Given the description of an element on the screen output the (x, y) to click on. 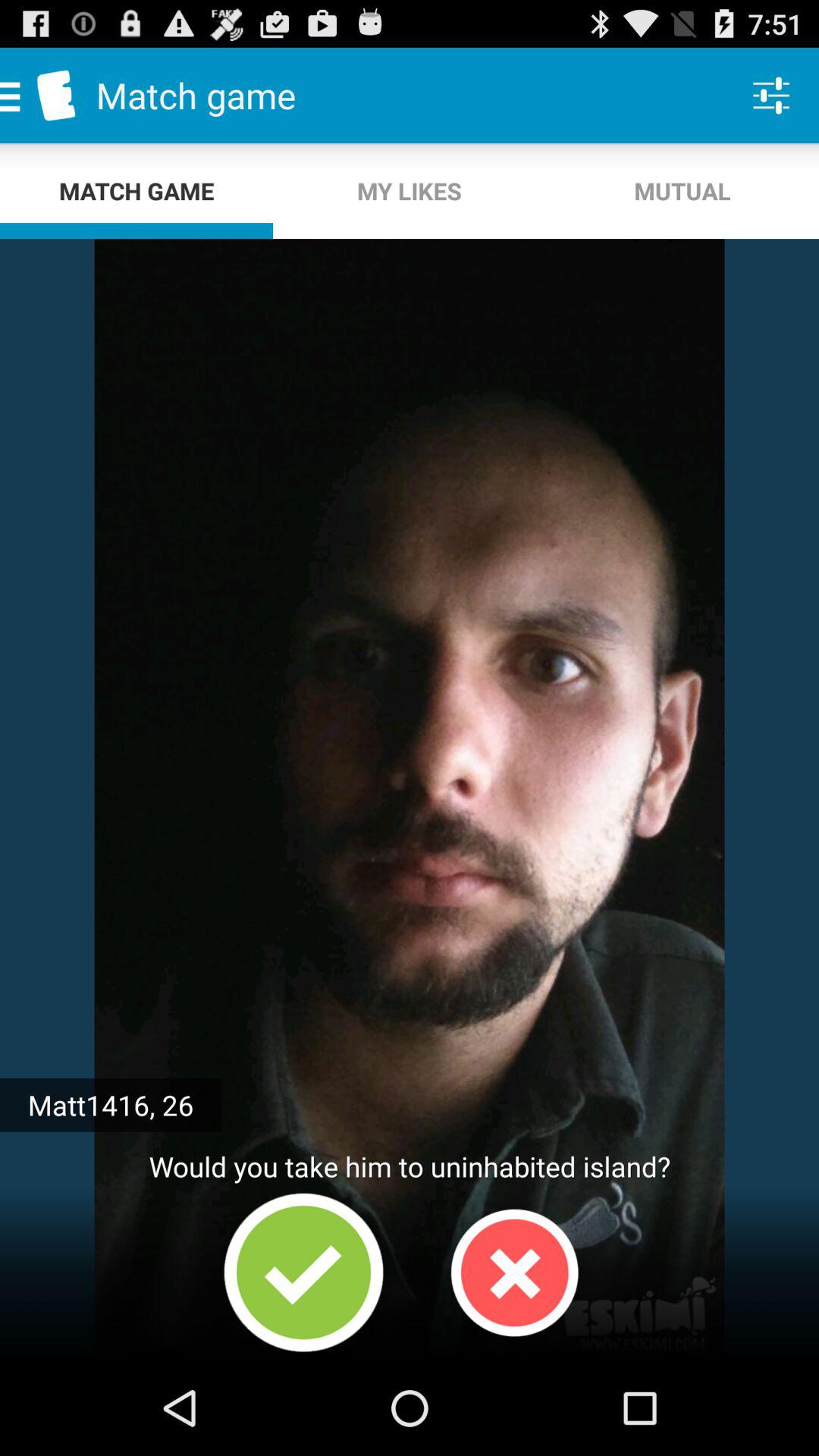
save and click option (303, 1272)
